Given the description of an element on the screen output the (x, y) to click on. 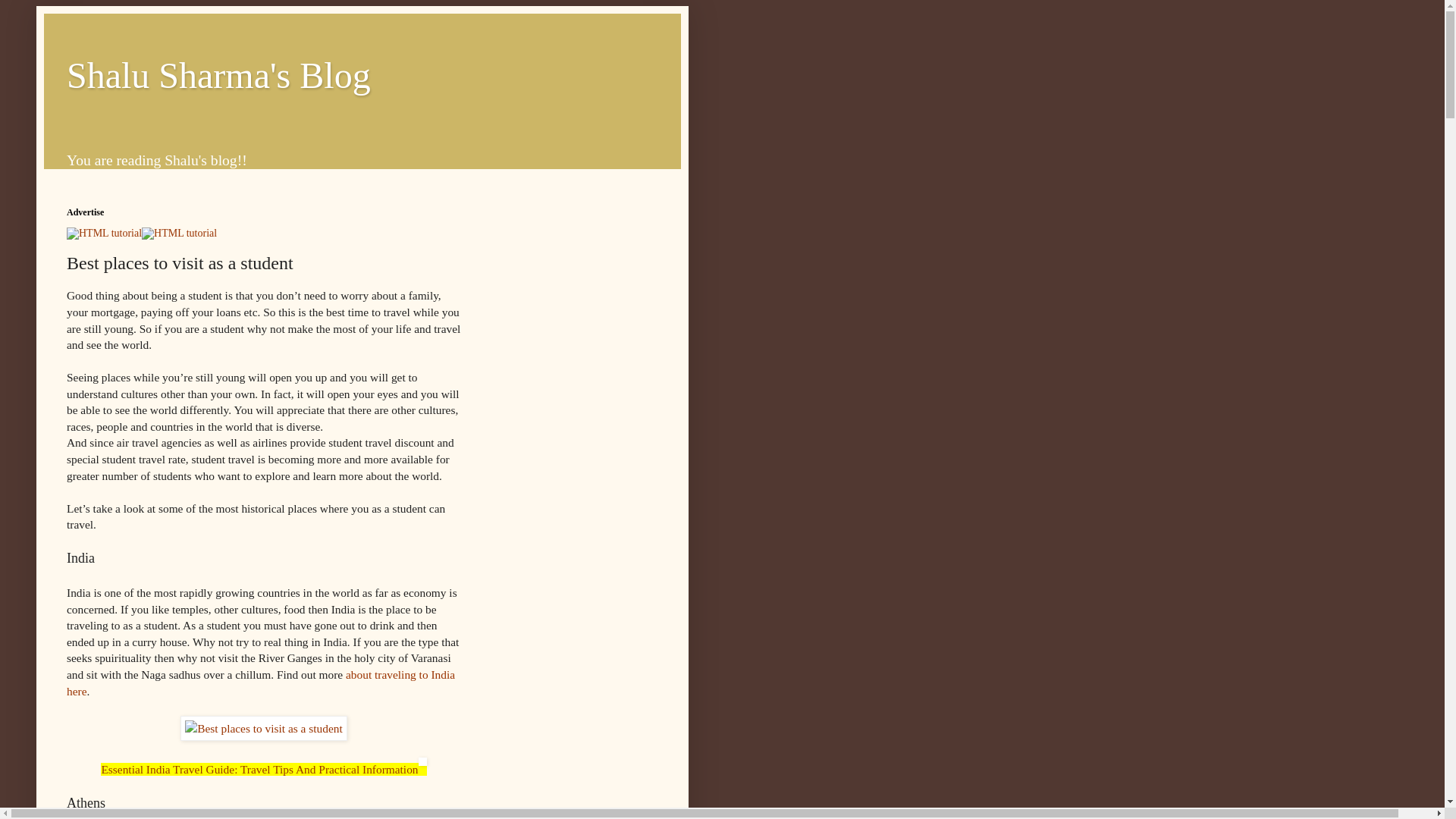
about traveling to India here (260, 682)
Shalu Sharma's Blog (218, 75)
Best places to visit as a student (263, 728)
